Given the description of an element on the screen output the (x, y) to click on. 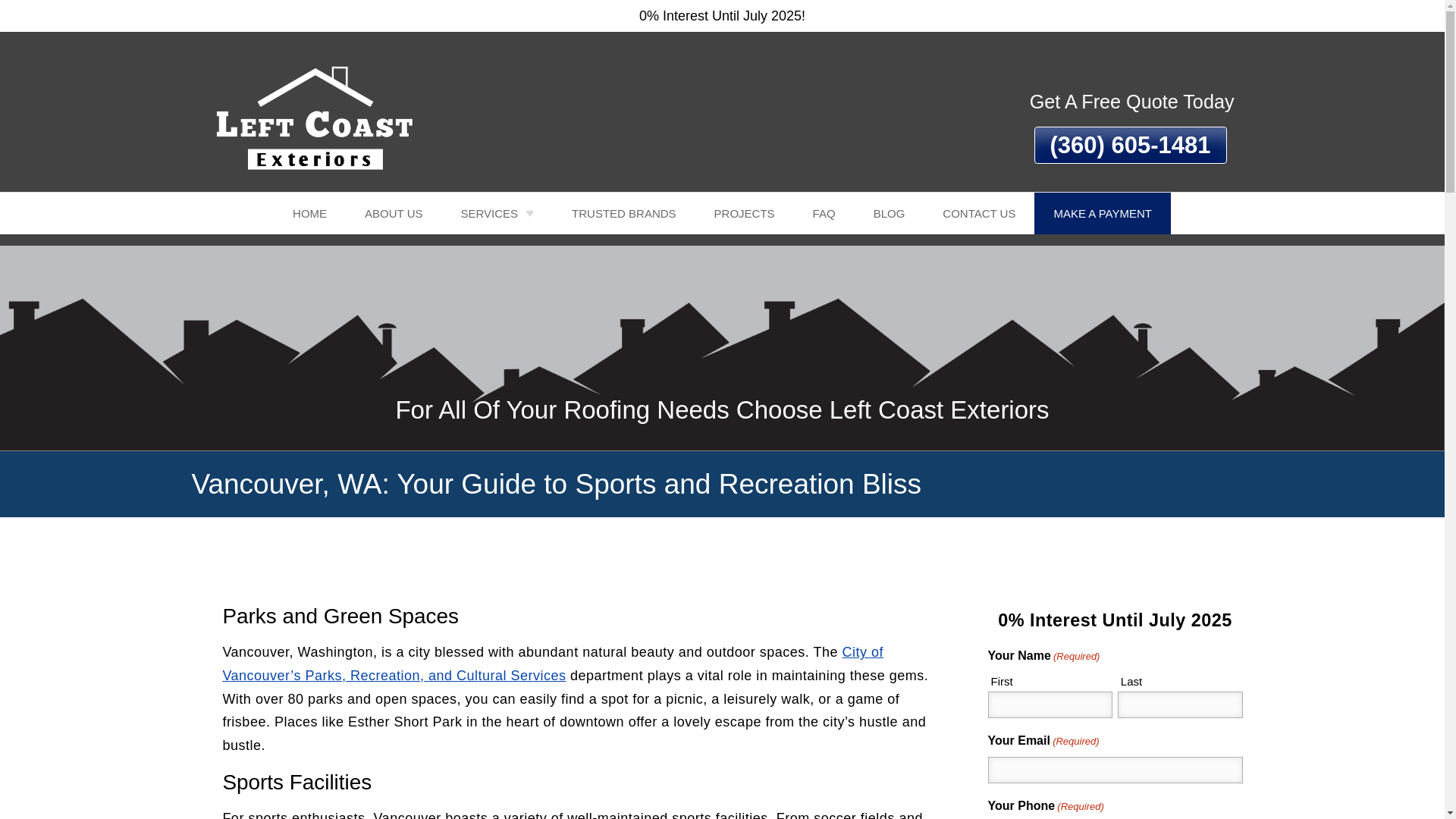
CONTACT US (978, 213)
BLOG (889, 213)
SERVICES (497, 213)
FAQ (823, 213)
TRUSTED BRANDS (624, 213)
ABOUT US (393, 213)
MAKE A PAYMENT (1101, 213)
PROJECTS (744, 213)
HOME (309, 213)
